Given the description of an element on the screen output the (x, y) to click on. 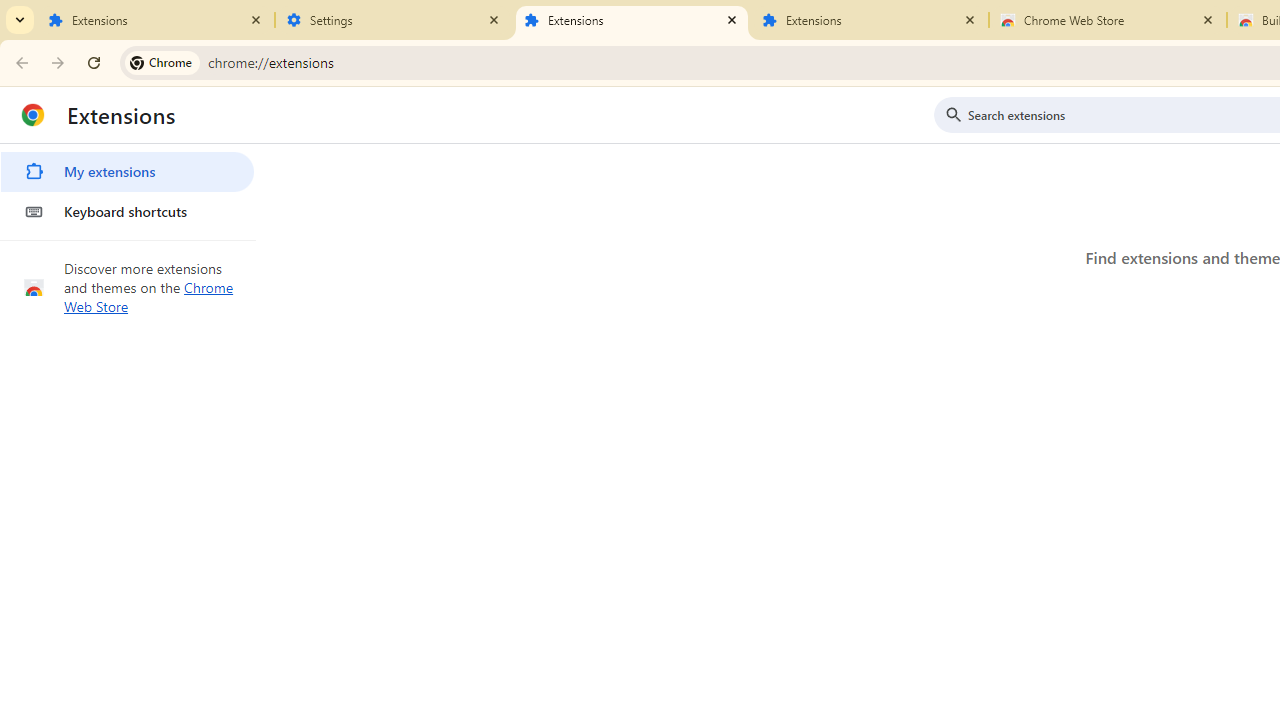
Settings (394, 20)
AutomationID: sectionMenu (128, 187)
My extensions (127, 171)
Extensions (632, 20)
Chrome Web Store (1108, 20)
Keyboard shortcuts (127, 211)
Extensions (156, 20)
Extensions (870, 20)
